Given the description of an element on the screen output the (x, y) to click on. 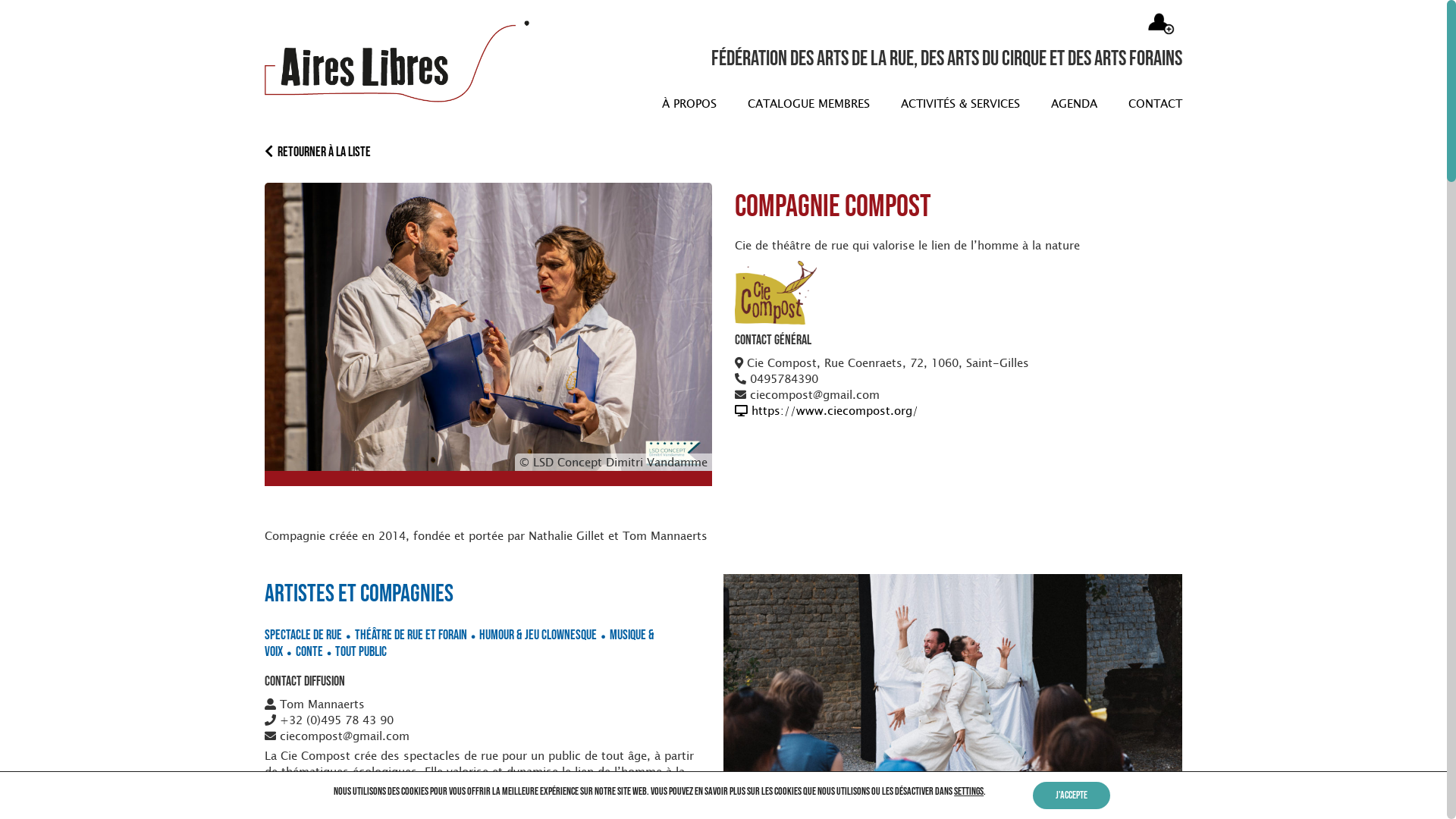
settings Element type: text (968, 791)
CONTACT Element type: text (1151, 102)
J'accepte Element type: text (1071, 795)
https://www.ciecompost.org/ Element type: text (826, 410)
CATALOGUE MEMBRES Element type: text (804, 102)
 ACCUEIL Element type: text (620, 102)
AGENDA Element type: text (1069, 102)
